Given the description of an element on the screen output the (x, y) to click on. 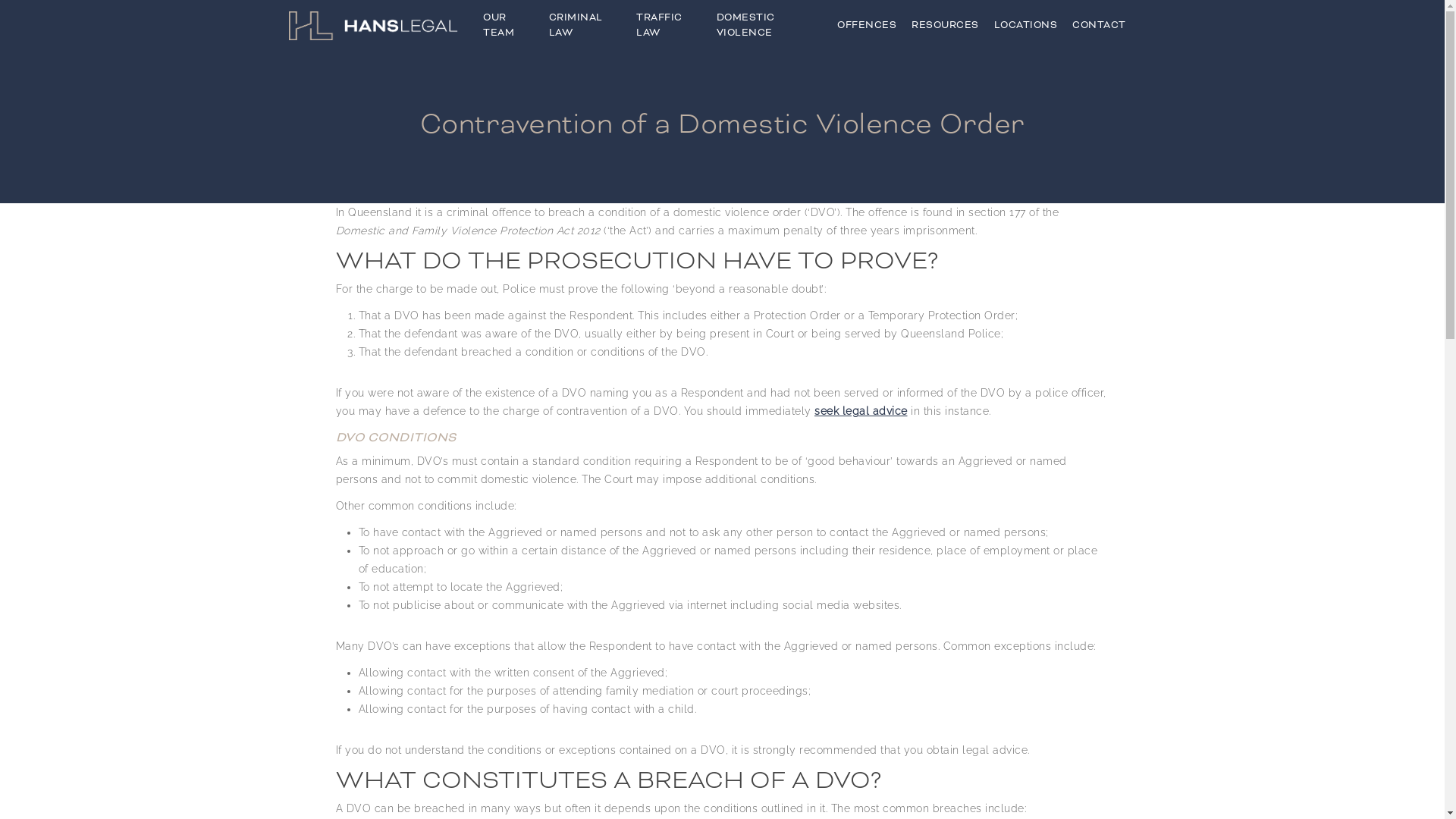
LOCATIONS Element type: text (1025, 25)
DOMESTIC VIOLENCE Element type: text (769, 25)
CONTACT Element type: text (1099, 25)
seek legal advice Element type: text (860, 410)
RESOURCES Element type: text (945, 25)
TRAFFIC LAW Element type: text (668, 25)
OUR TEAM Element type: text (508, 25)
OFFENCES Element type: text (866, 25)
CRIMINAL LAW Element type: text (585, 25)
